Given the description of an element on the screen output the (x, y) to click on. 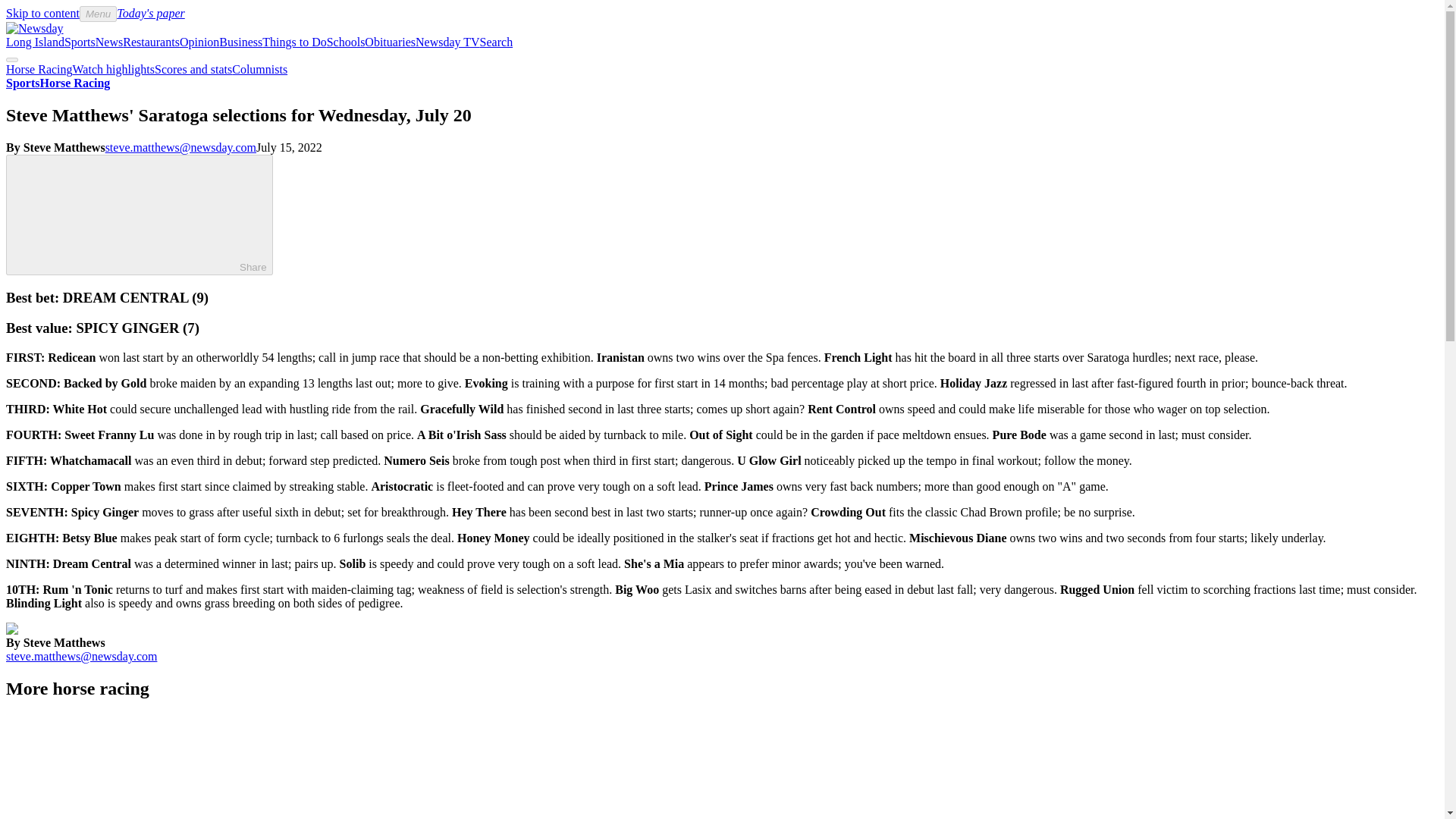
Business (240, 42)
Horse Racing (38, 69)
Scores and stats (192, 69)
Search (496, 42)
Restaurants (150, 42)
Sports (22, 82)
Newsday TV (447, 42)
Long Island (34, 42)
Opinion (199, 42)
Obituaries (389, 42)
